Given the description of an element on the screen output the (x, y) to click on. 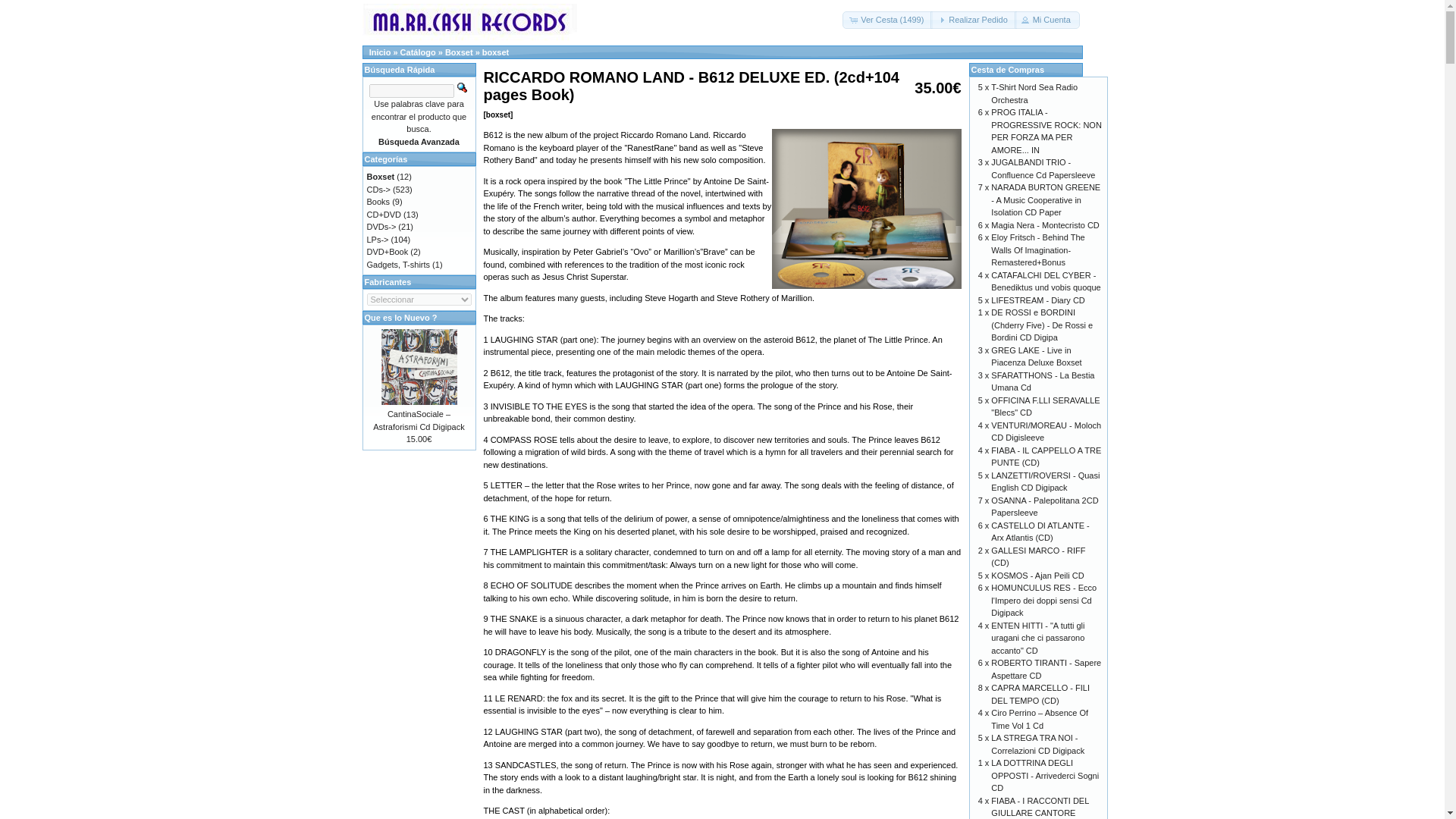
Inicio (380, 51)
Boxset (459, 51)
Que es lo Nuevo ? (400, 316)
JUGALBANDI TRIO - Confluence Cd Papersleeve (1042, 168)
Mi Cuenta (1047, 19)
Realizar Pedido (973, 19)
Boxset (380, 175)
Cesta de Compras (1007, 69)
Gadgets, T-shirts (398, 263)
Books (378, 201)
T-Shirt Nord Sea Radio Orchestra (1034, 93)
MaRaCash Store (469, 22)
boxset (494, 51)
